Given the description of an element on the screen output the (x, y) to click on. 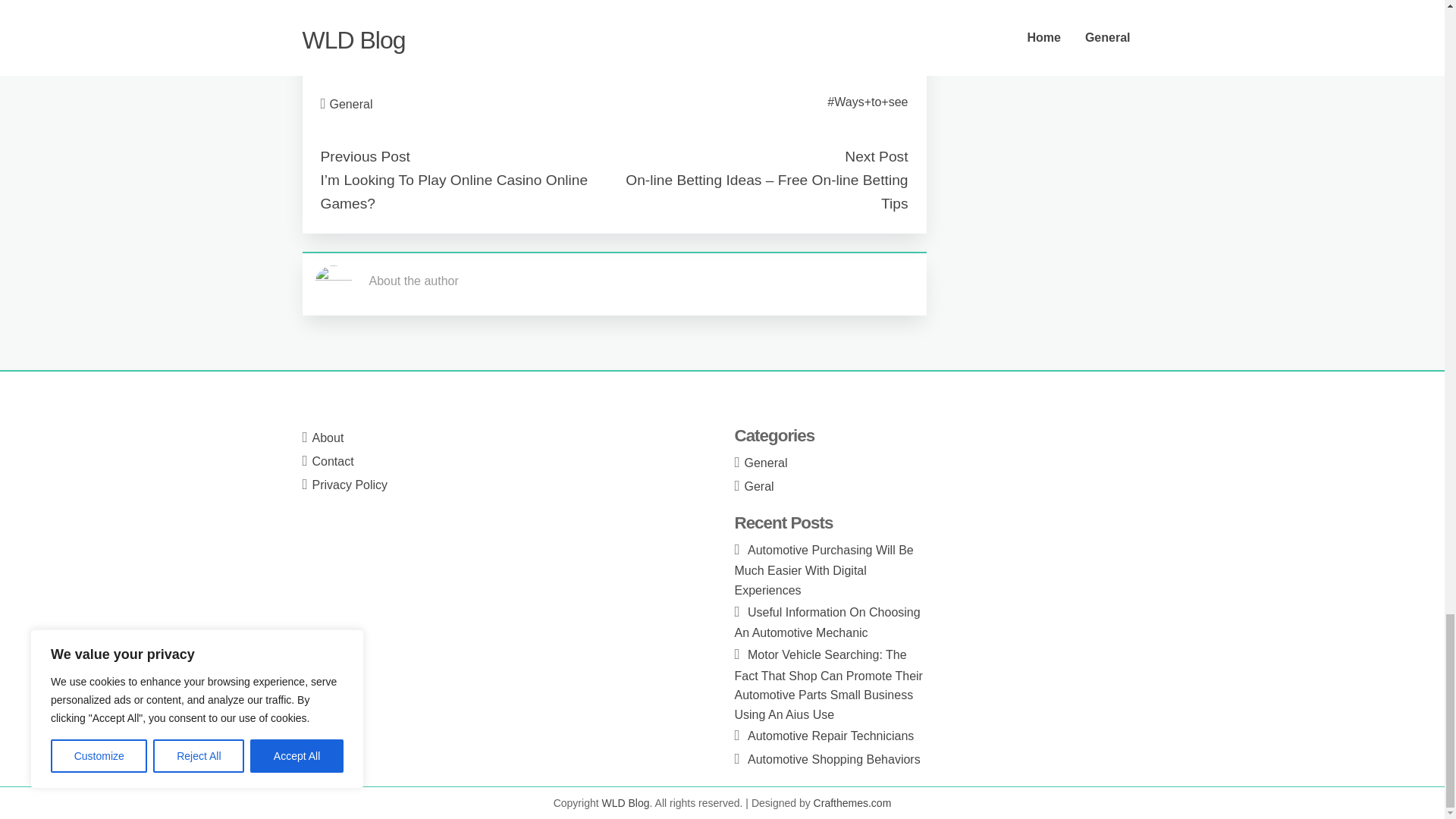
simply click the up coming post (410, 11)
Contact (333, 461)
Previous Post (364, 156)
General (765, 462)
About (328, 437)
simply click the following page (400, 51)
General (351, 103)
Next Post (875, 156)
Privacy Policy (350, 484)
